Given the description of an element on the screen output the (x, y) to click on. 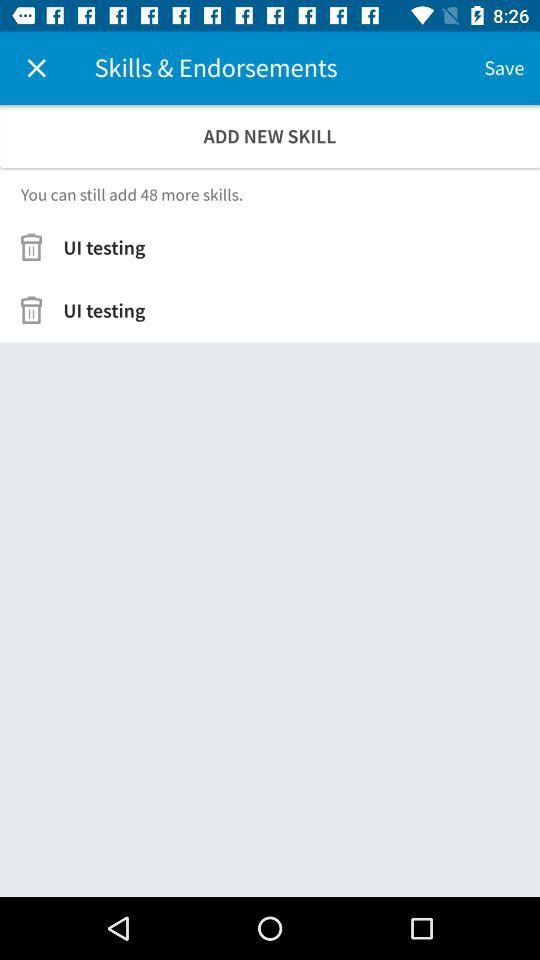
swipe to save (504, 67)
